Given the description of an element on the screen output the (x, y) to click on. 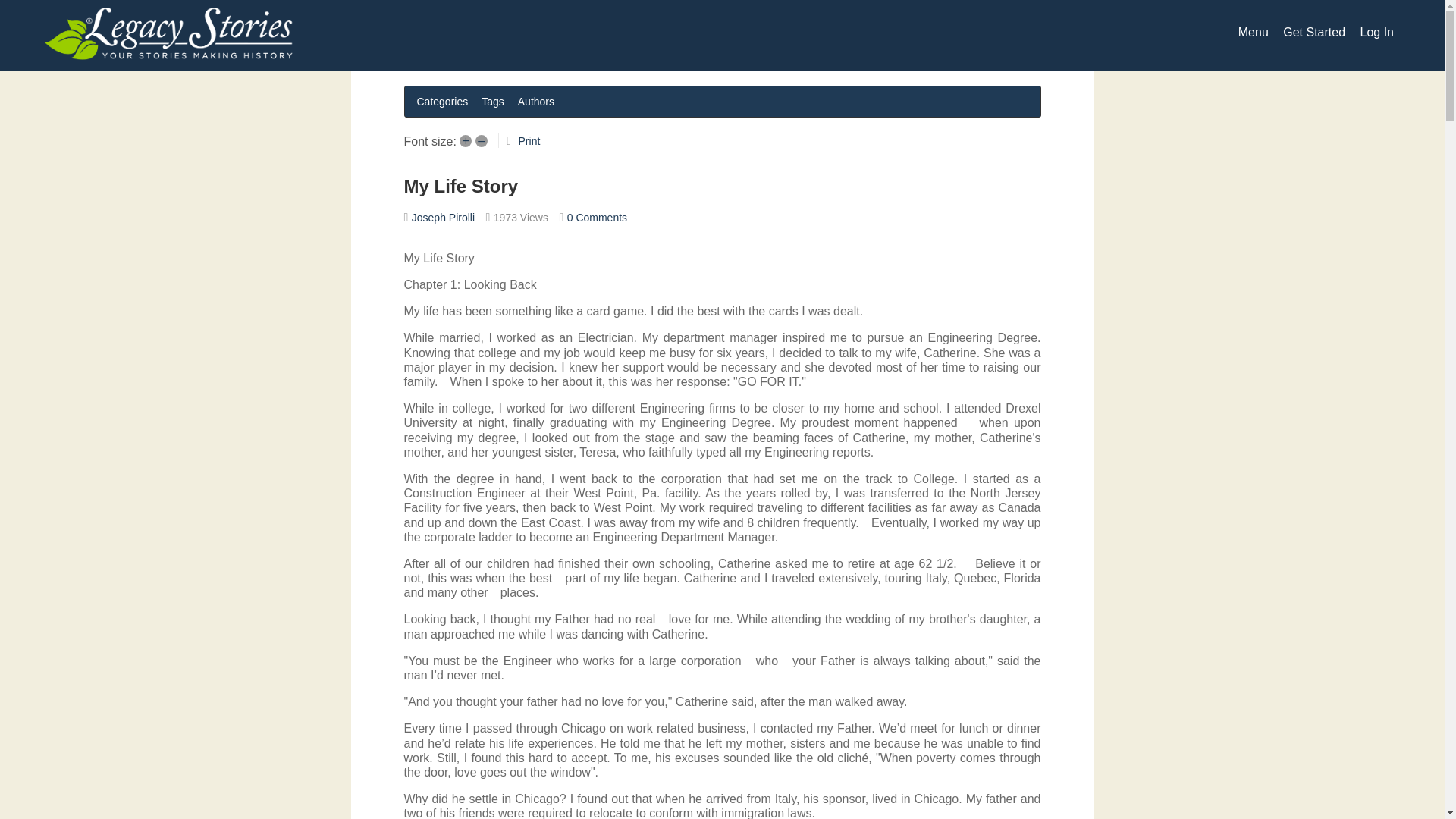
Authors (536, 101)
Joseph Pirolli (443, 217)
Log In (1376, 31)
Tags (493, 101)
Categories (442, 101)
Print (529, 141)
Print (529, 141)
Get Started (1313, 31)
Menu (1253, 31)
